Given the description of an element on the screen output the (x, y) to click on. 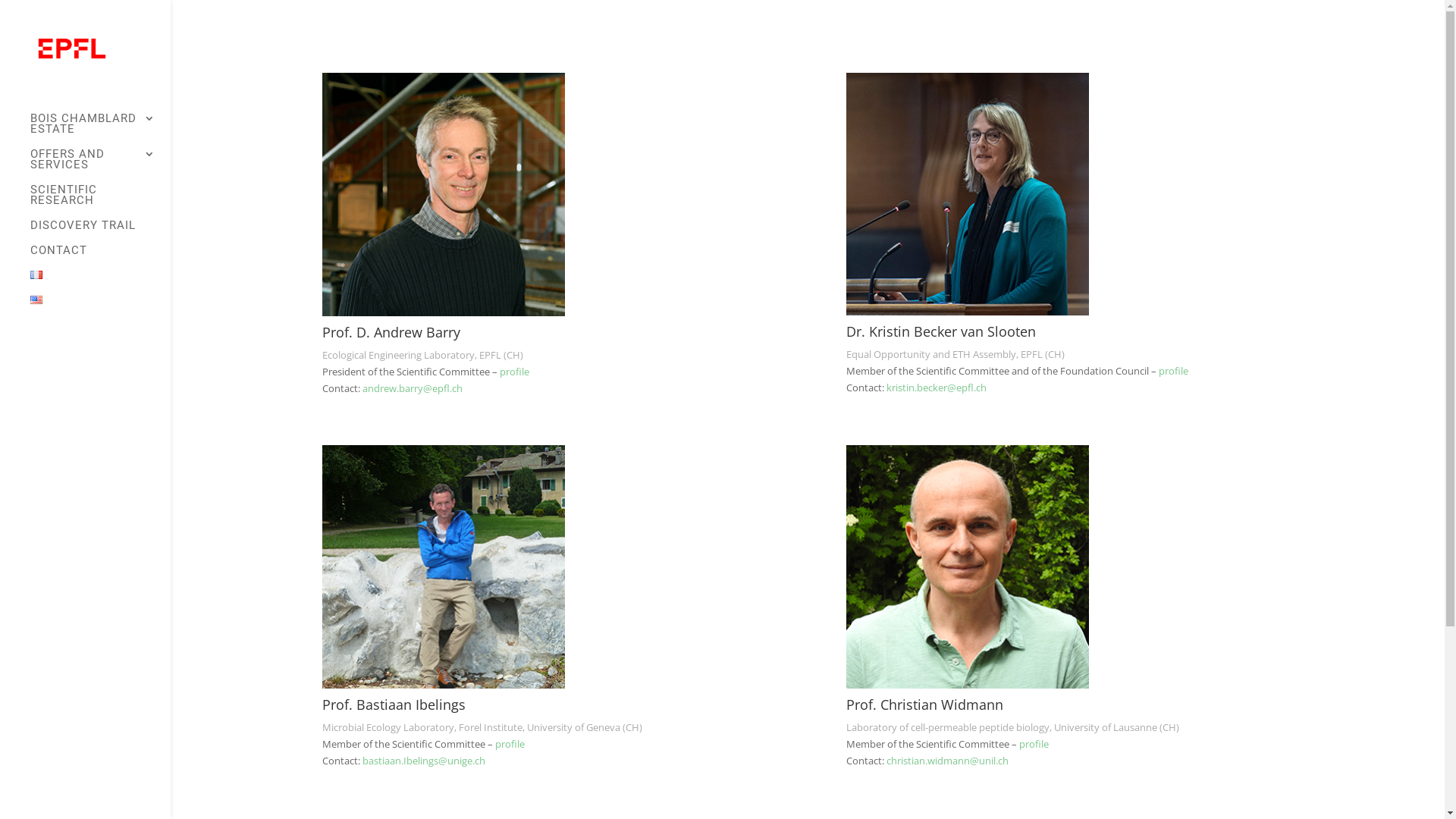
profile Element type: text (514, 371)
bastiaan.Ibelings@unige.ch Element type: text (423, 760)
SCIENTIFIC RESEARCH Element type: text (100, 201)
DISCOVERY TRAIL Element type: text (100, 231)
profile Element type: text (509, 743)
profile Element type: text (1033, 743)
andrew.barry@epfl.ch Element type: text (412, 388)
BOIS CHAMBLARD ESTATE Element type: text (100, 130)
christian.widmann@unil.ch Element type: text (947, 760)
kristin.becker@epfl.ch Element type: text (936, 387)
OFFERS AND SERVICES Element type: text (100, 166)
CONTACT Element type: text (100, 256)
profile Element type: text (1173, 370)
